Given the description of an element on the screen output the (x, y) to click on. 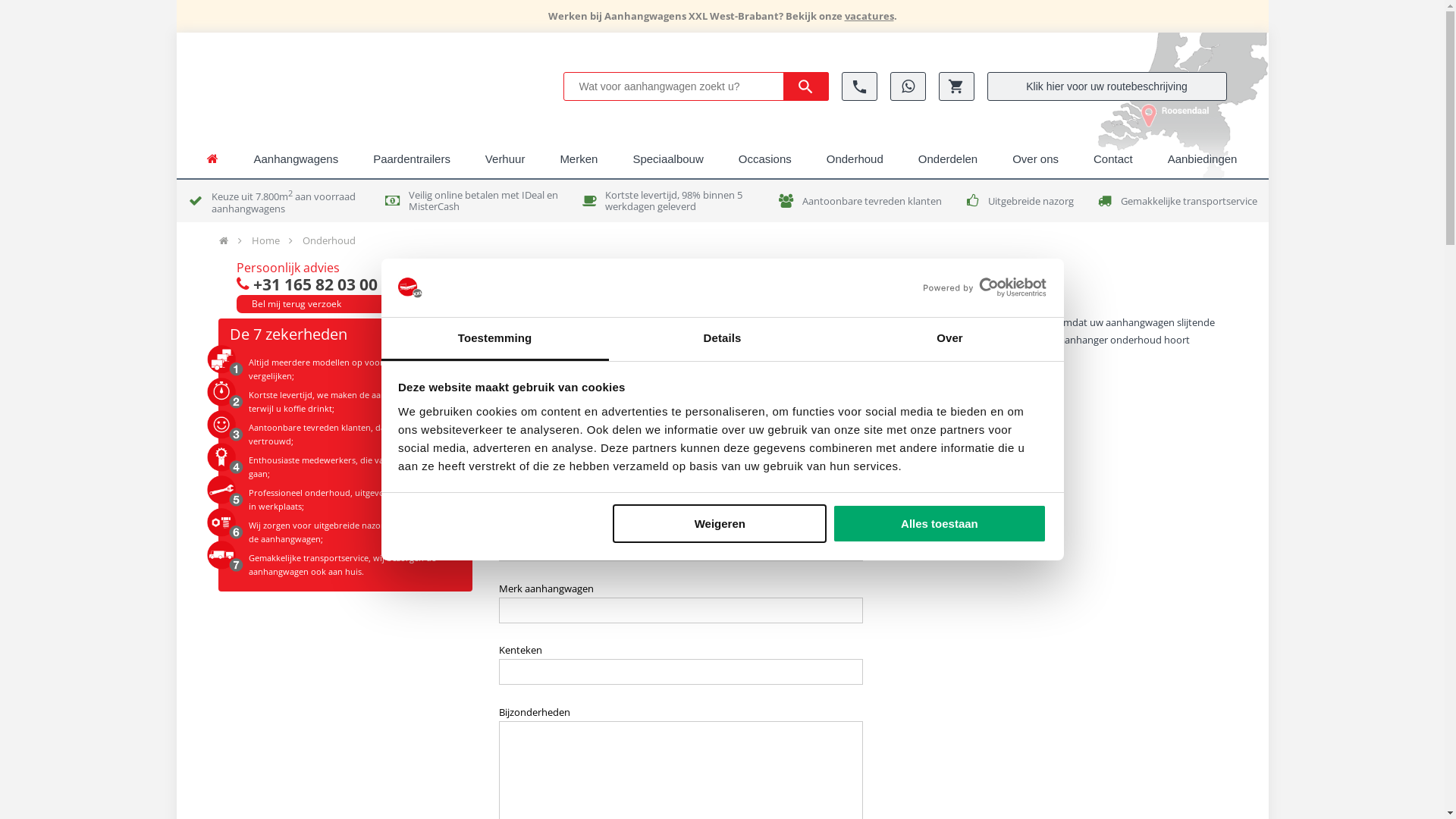
Paardentrailers Element type: text (411, 158)
Over Element type: text (949, 338)
Toestemming Element type: text (494, 338)
Verhuur Element type: text (505, 158)
Bel mij terug verzoek Element type: text (330, 303)
Aanhangwagens Element type: text (295, 158)
Aanbiedingen Element type: text (1202, 158)
Merken Element type: text (578, 158)
Contact Element type: text (1112, 158)
Onderdelen Element type: text (947, 158)
Klik hier voor uw routebeschrijving Element type: text (1106, 86)
Speciaalbouw Element type: text (667, 158)
Alles toestaan Element type: text (939, 523)
Occasions Element type: text (764, 158)
Weigeren Element type: text (719, 523)
Onderhoud Element type: text (854, 158)
Over ons Element type: text (1035, 158)
Home Element type: text (265, 240)
Details Element type: text (721, 338)
vacatures Element type: text (869, 15)
+31 165 82 03 00 Element type: text (330, 284)
